Given the description of an element on the screen output the (x, y) to click on. 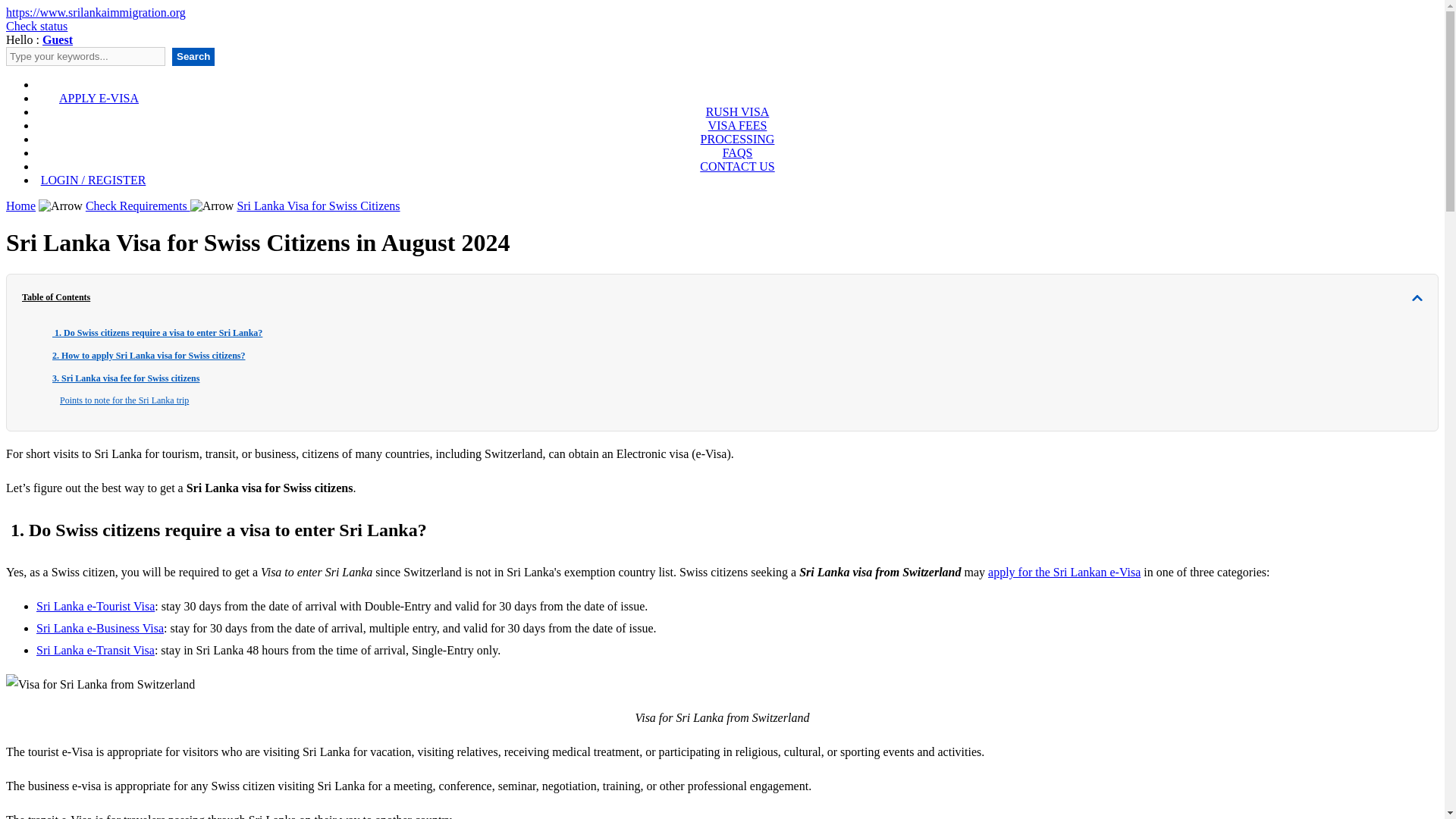
Sri Lanka e-Transit Visa (95, 649)
Check status (35, 25)
apply for the Sri Lankan e-Visa (1064, 571)
Points to note for the Sri Lanka trip (124, 401)
Sri Lanka e-Business Visa (99, 627)
Search (192, 55)
APPLY E-VISA (98, 98)
Guest (57, 39)
Sri Lanka Visa for Swiss Citizens (316, 205)
Account (57, 39)
